Given the description of an element on the screen output the (x, y) to click on. 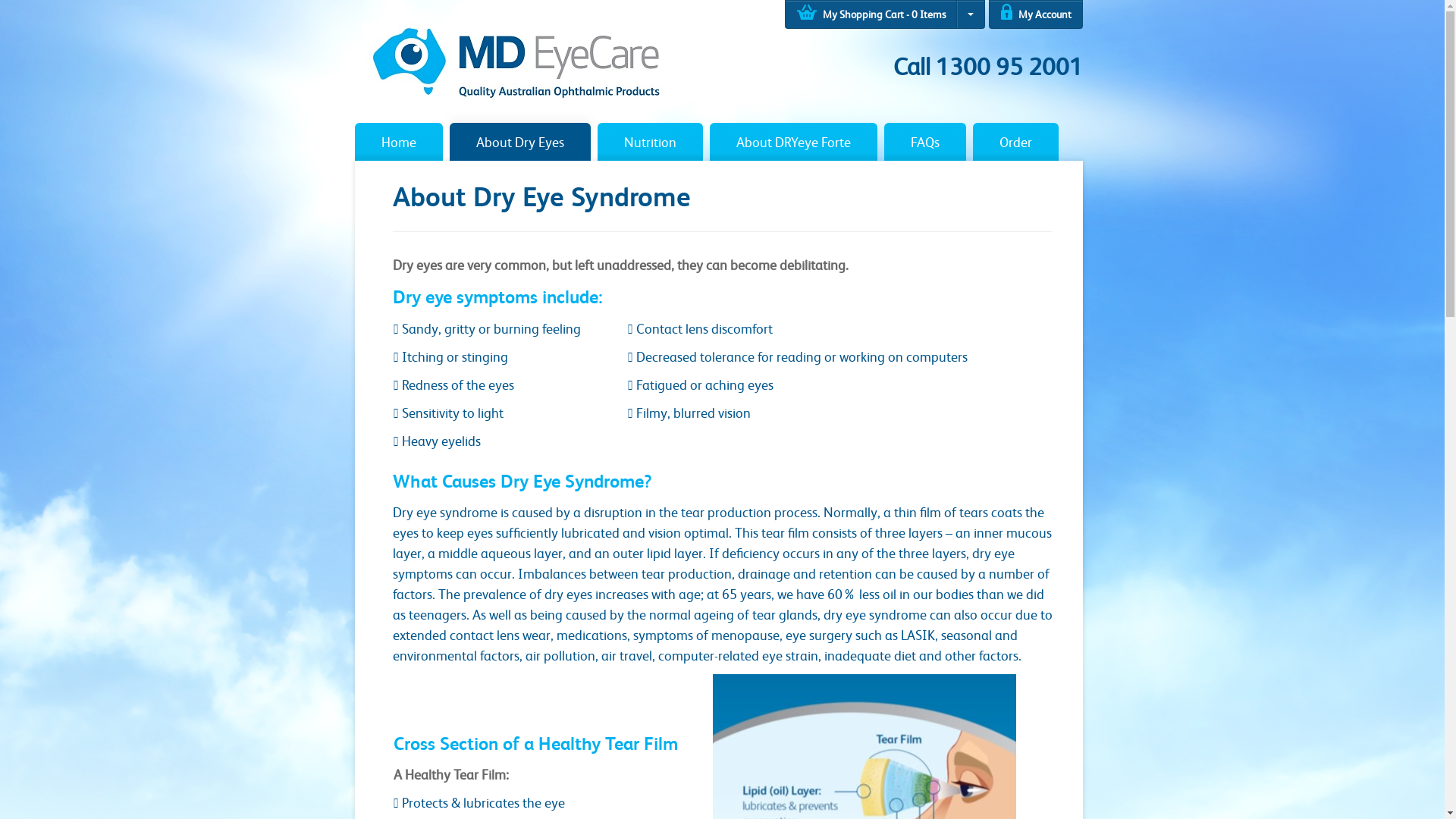
MD EyeCare Element type: hover (513, 59)
Nutrition Element type: text (649, 141)
Order Element type: text (1014, 141)
FAQs Element type: text (925, 141)
My Account Element type: text (1035, 14)
My Shopping Cart - 0 Items Element type: text (870, 14)
About DRYeye Forte Element type: text (793, 141)
Call 1300 95 2001 Element type: text (987, 65)
Home Element type: text (398, 141)
About Dry Eyes Element type: text (518, 141)
